Given the description of an element on the screen output the (x, y) to click on. 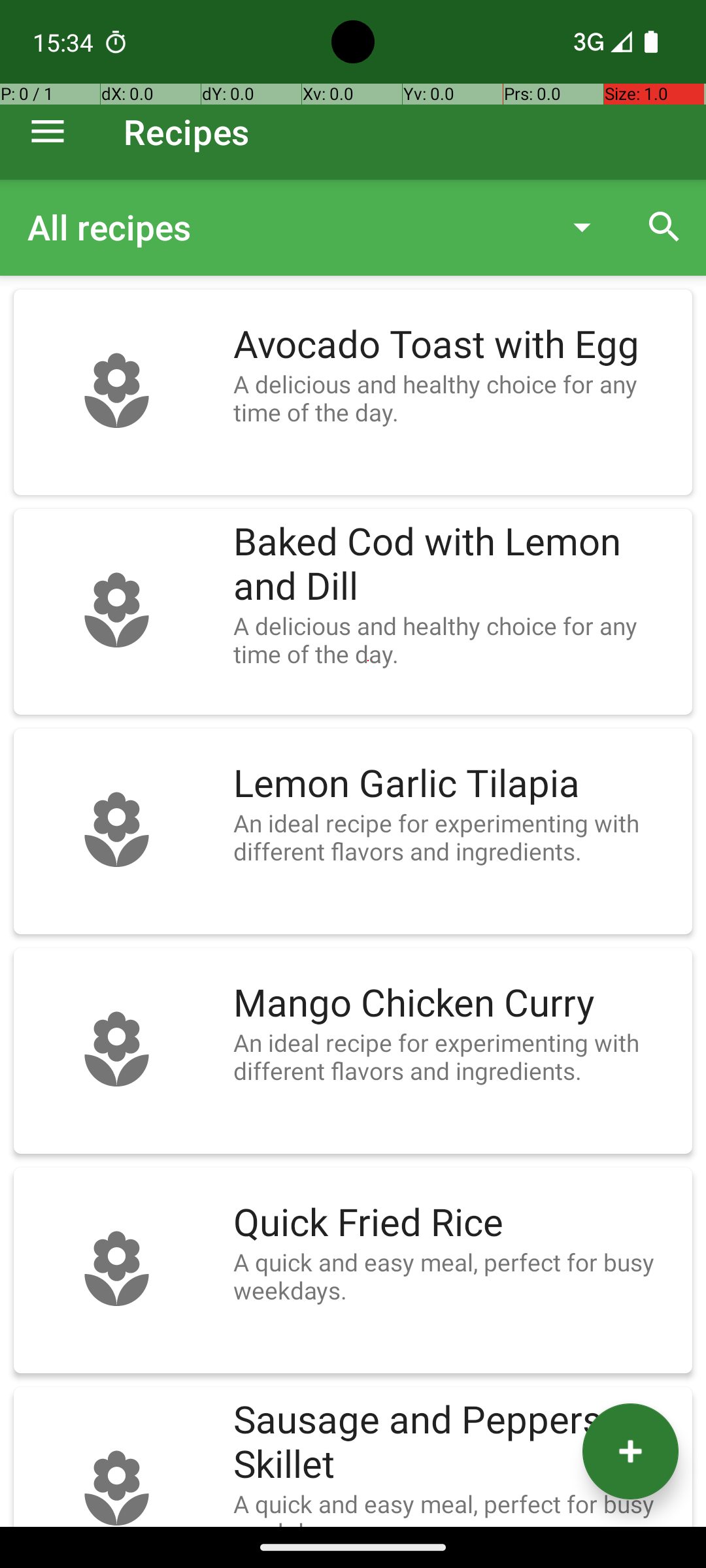
Mango Chicken Curry Element type: android.widget.TextView (455, 1003)
Sausage and Peppers Skillet Element type: android.widget.TextView (455, 1442)
